Given the description of an element on the screen output the (x, y) to click on. 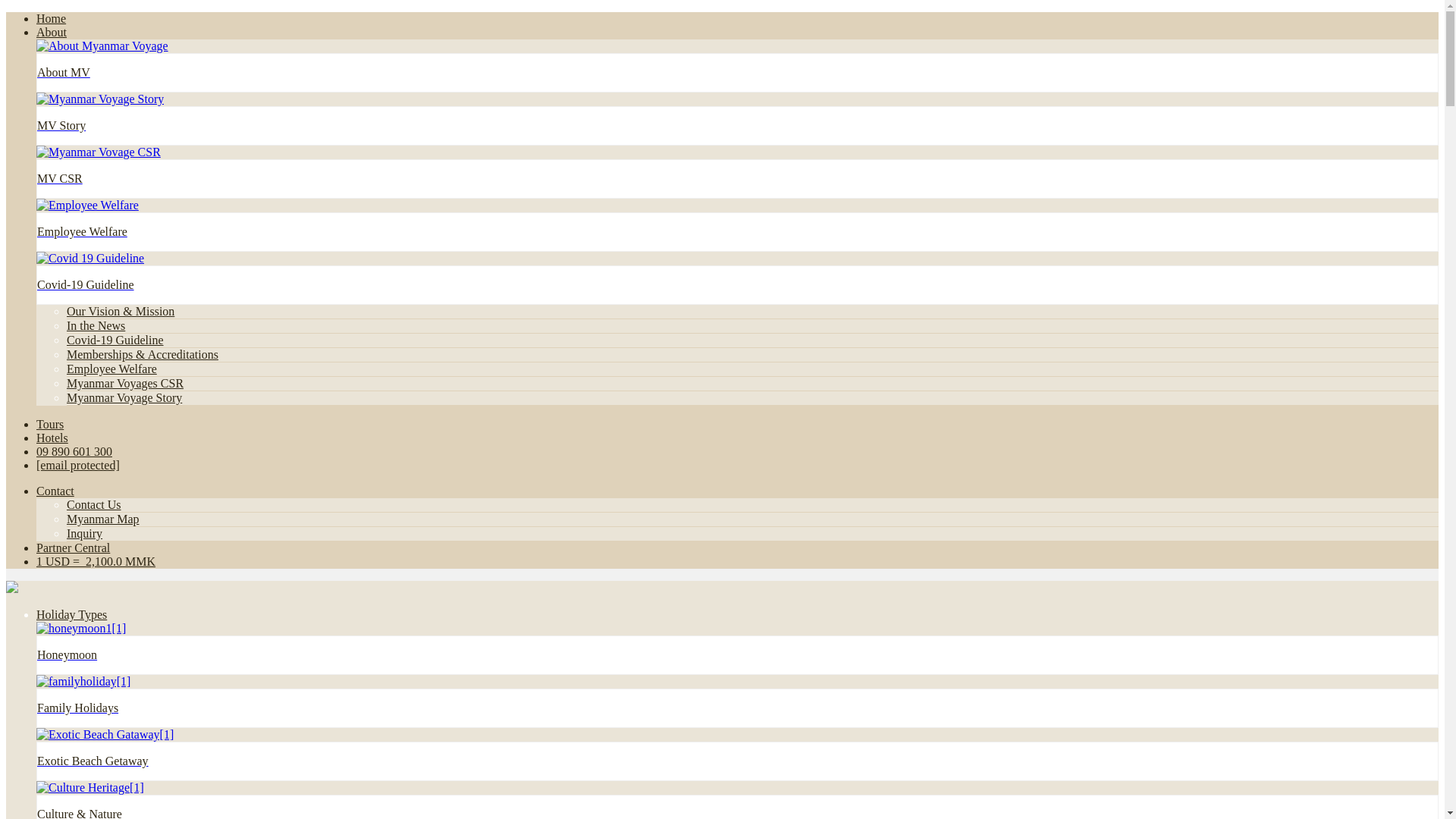
09 890 601 300 (74, 451)
Myanmar Voyage Story (124, 397)
Contact Us (93, 504)
Home (50, 18)
Covid-19 Guideline (114, 339)
Inquiry (83, 533)
Myanmar Voyages CSR (124, 382)
About (51, 31)
Holiday Types (71, 614)
In the News (95, 325)
